Given the description of an element on the screen output the (x, y) to click on. 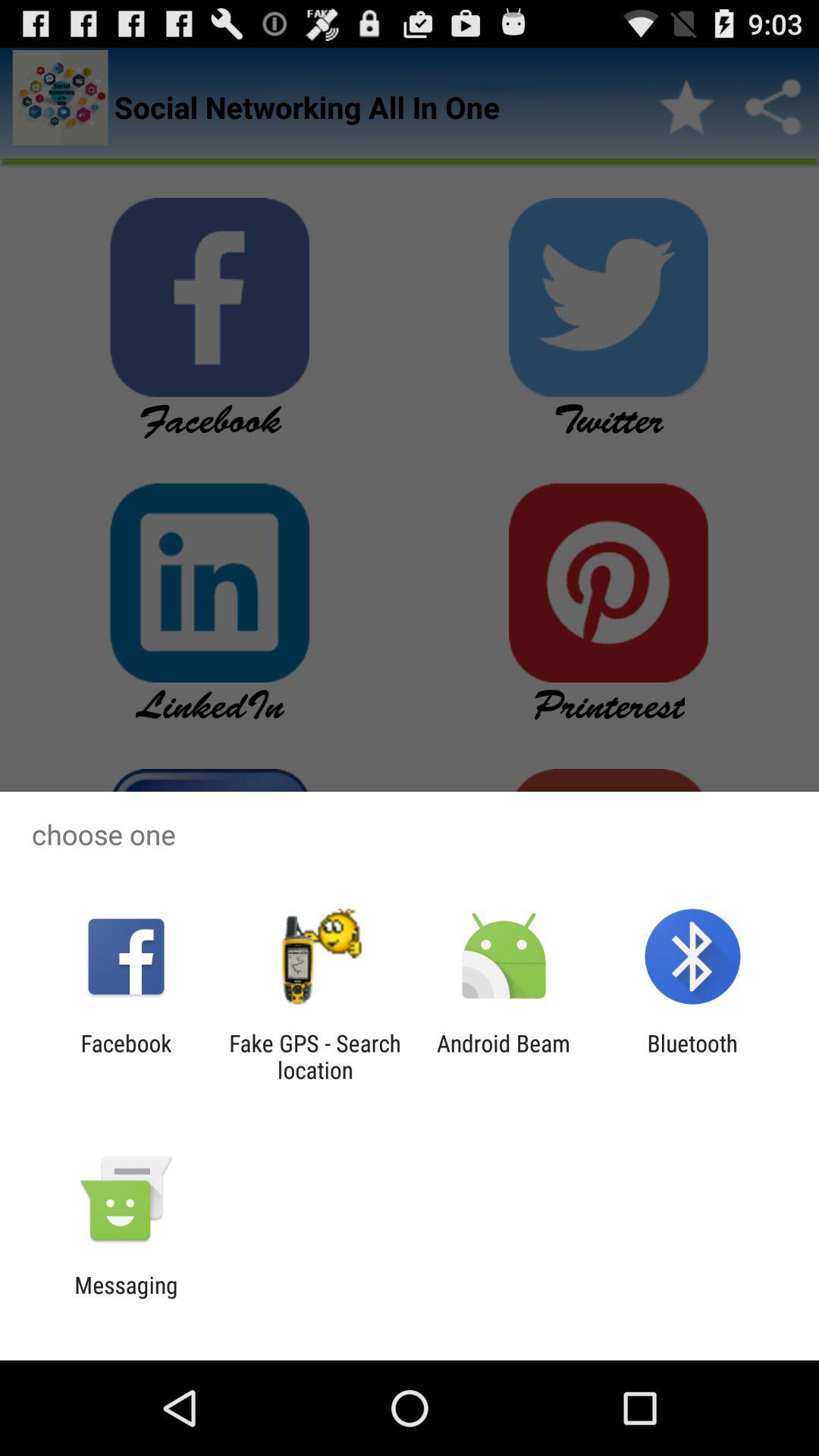
choose icon to the left of the android beam item (314, 1056)
